Given the description of an element on the screen output the (x, y) to click on. 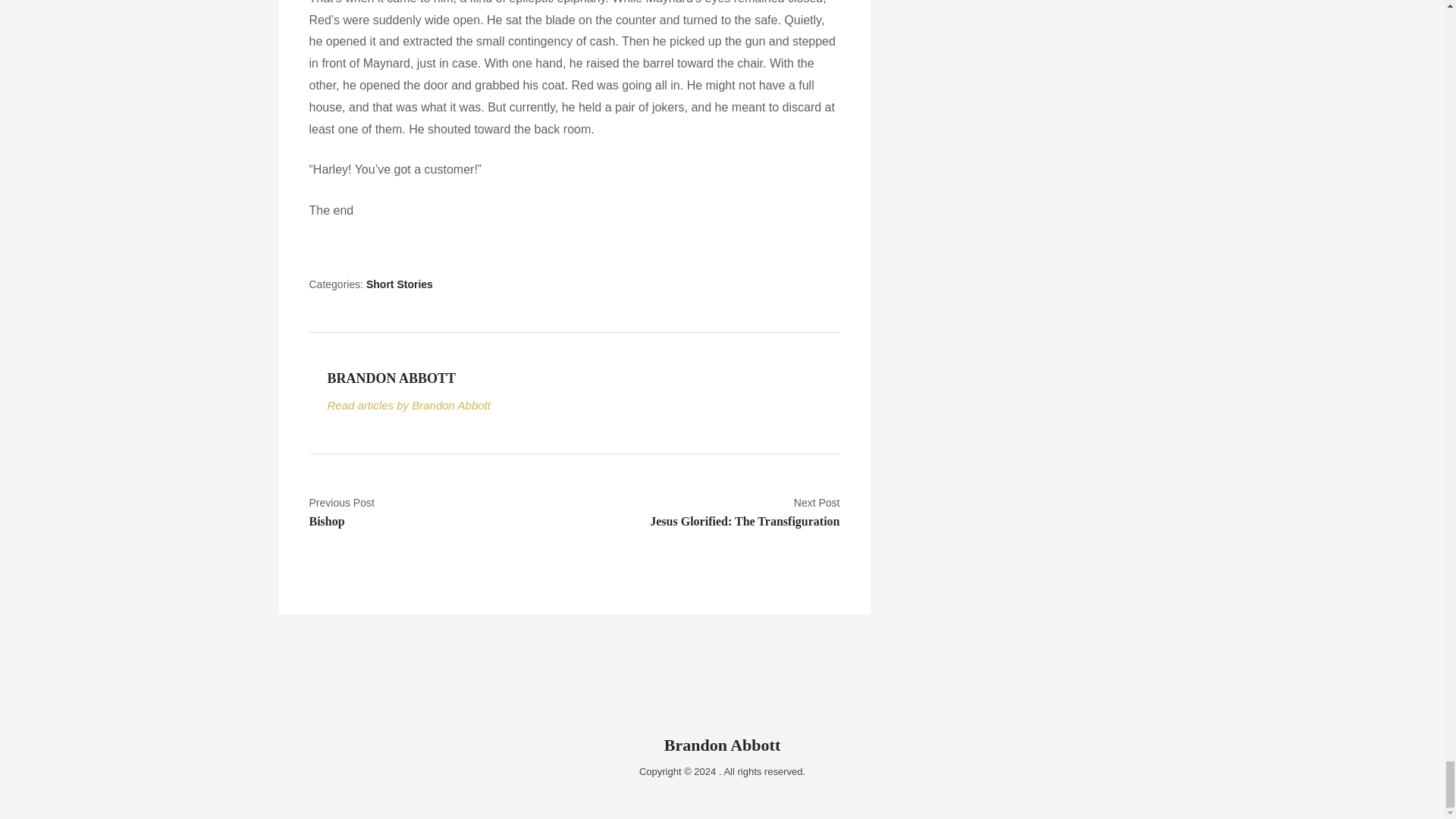
Short Stories (712, 513)
Read articles by Brandon Abbott (399, 284)
